Given the description of an element on the screen output the (x, y) to click on. 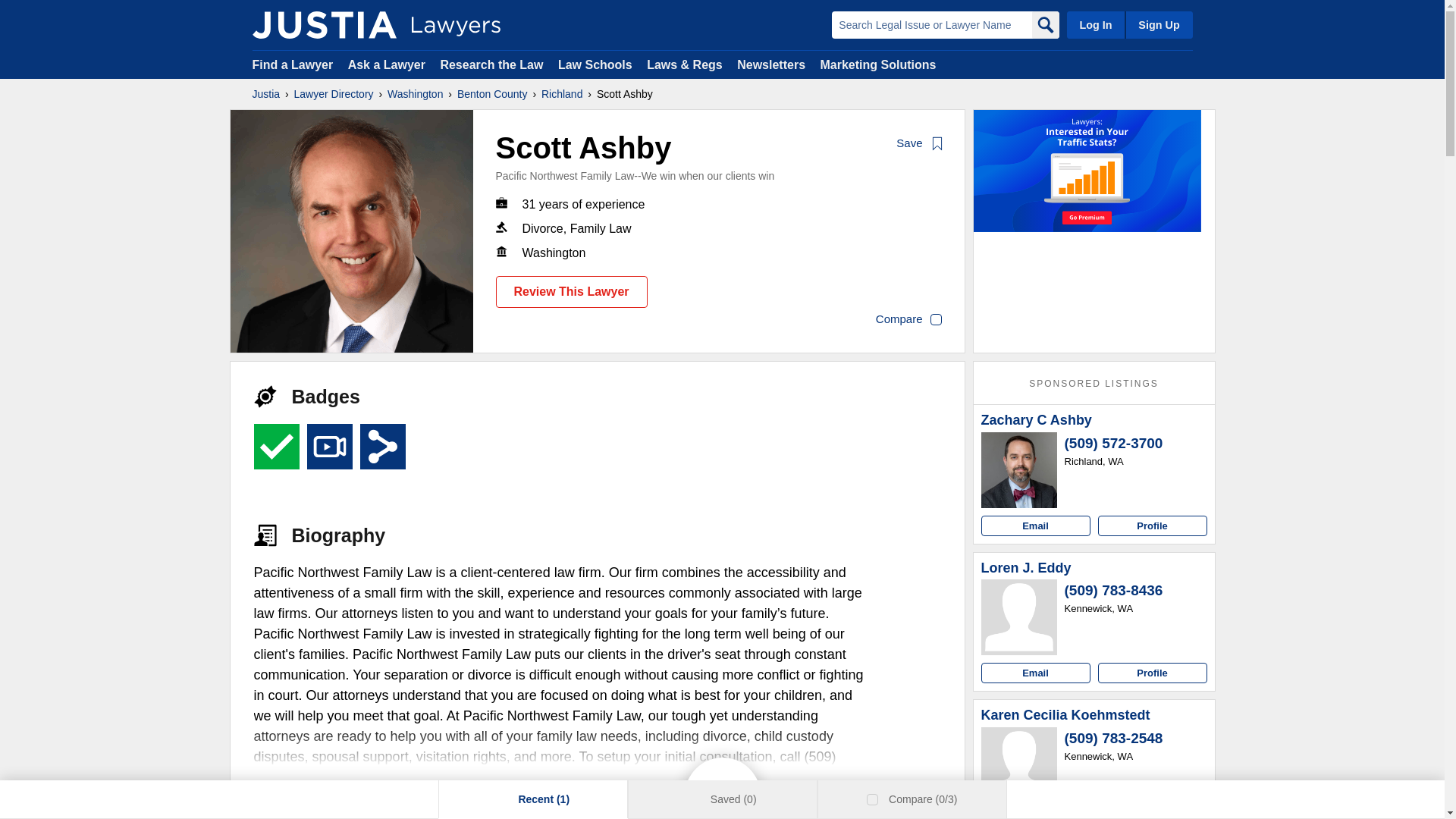
Review This Lawyer (571, 291)
Find a Lawyer (292, 64)
Loren J. Eddy (1019, 617)
Washington (414, 93)
Law Schools (594, 64)
Compare (909, 319)
Sign Up (1158, 24)
Benton County (492, 93)
Search (1044, 24)
Loren J. Eddy (1026, 568)
Karen Cecilia Koehmstedt (1065, 715)
Lawyer Directory (334, 93)
Log In (1094, 24)
Marketing Solutions (877, 64)
Save (919, 143)
